Given the description of an element on the screen output the (x, y) to click on. 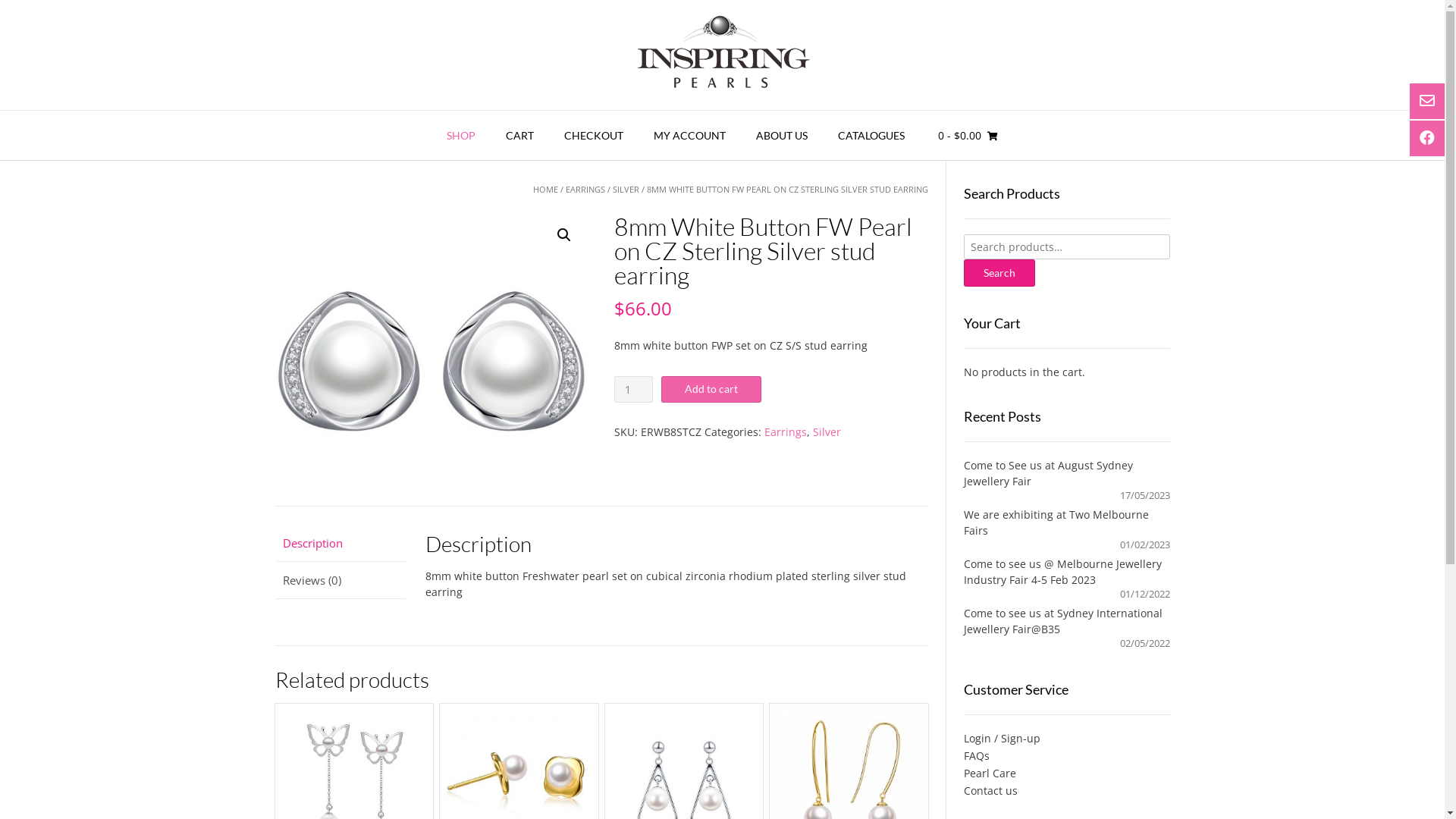
Description Element type: text (339, 543)
EARRINGS Element type: text (585, 188)
MY ACCOUNT Element type: text (689, 135)
Send Us an Email Element type: hover (1428, 101)
Come to See us at August Sydney Jewellery Fair Element type: text (1047, 473)
CATALOGUES Element type: text (870, 135)
Inspiring Pearls Element type: hover (721, 54)
We are exhibiting at Two Melbourne Fairs Element type: text (1055, 522)
SHOP Element type: text (460, 135)
HOME Element type: text (545, 188)
Come to see us at Sydney International Jewellery Fair@B35 Element type: text (1062, 620)
Silver Element type: text (826, 431)
Reviews (0) Element type: text (339, 579)
SILVER Element type: text (625, 188)
Earrings Element type: text (785, 431)
ABOUT US Element type: text (781, 135)
CART Element type: text (519, 135)
Search Element type: text (999, 272)
Add to cart Element type: text (711, 389)
FAQs Element type: text (1066, 755)
Login / Sign-up Element type: text (1066, 738)
ERWB8STCZ Element type: hover (430, 342)
Find Us on Facebook Element type: hover (1428, 138)
Contact us Element type: text (1066, 790)
Pearl Care Element type: text (1066, 773)
0 - $0.00 Element type: text (967, 135)
CHECKOUT Element type: text (593, 135)
